Given the description of an element on the screen output the (x, y) to click on. 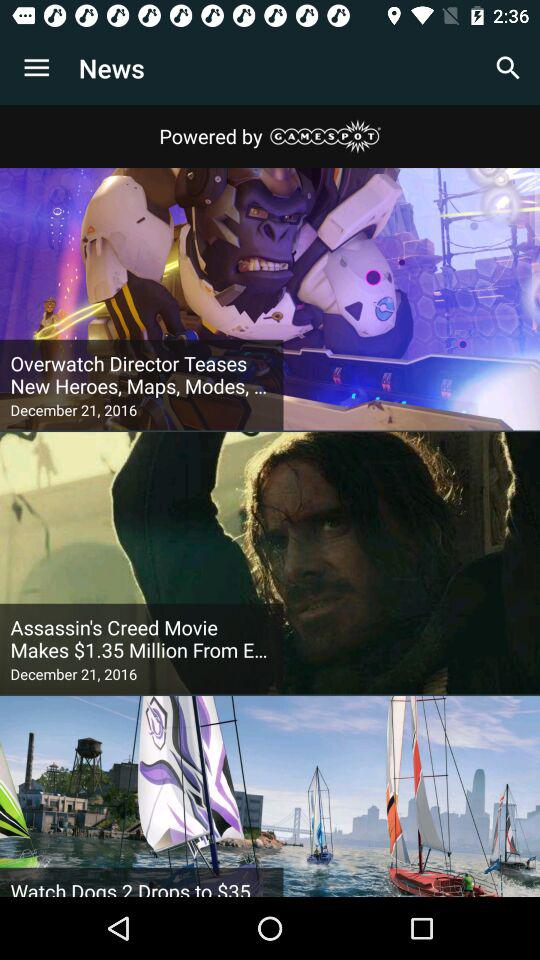
press the item above december 21, 2016 icon (141, 639)
